Given the description of an element on the screen output the (x, y) to click on. 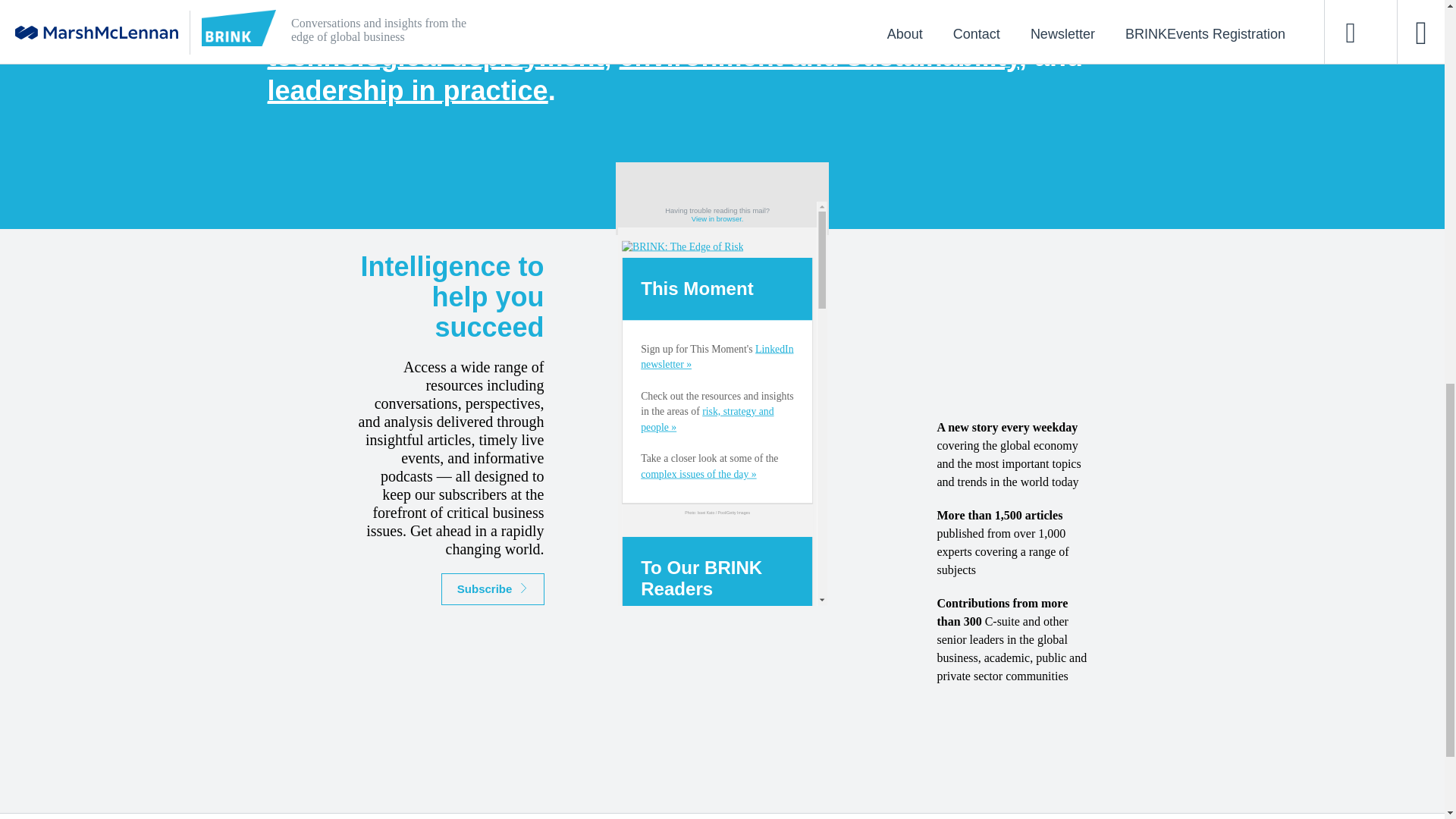
rapid technological deployment (673, 39)
global economic health (710, 18)
leadership in practice (406, 90)
environment and sustainability (819, 56)
societal shifts (909, 21)
influence of politics (675, 21)
